Given the description of an element on the screen output the (x, y) to click on. 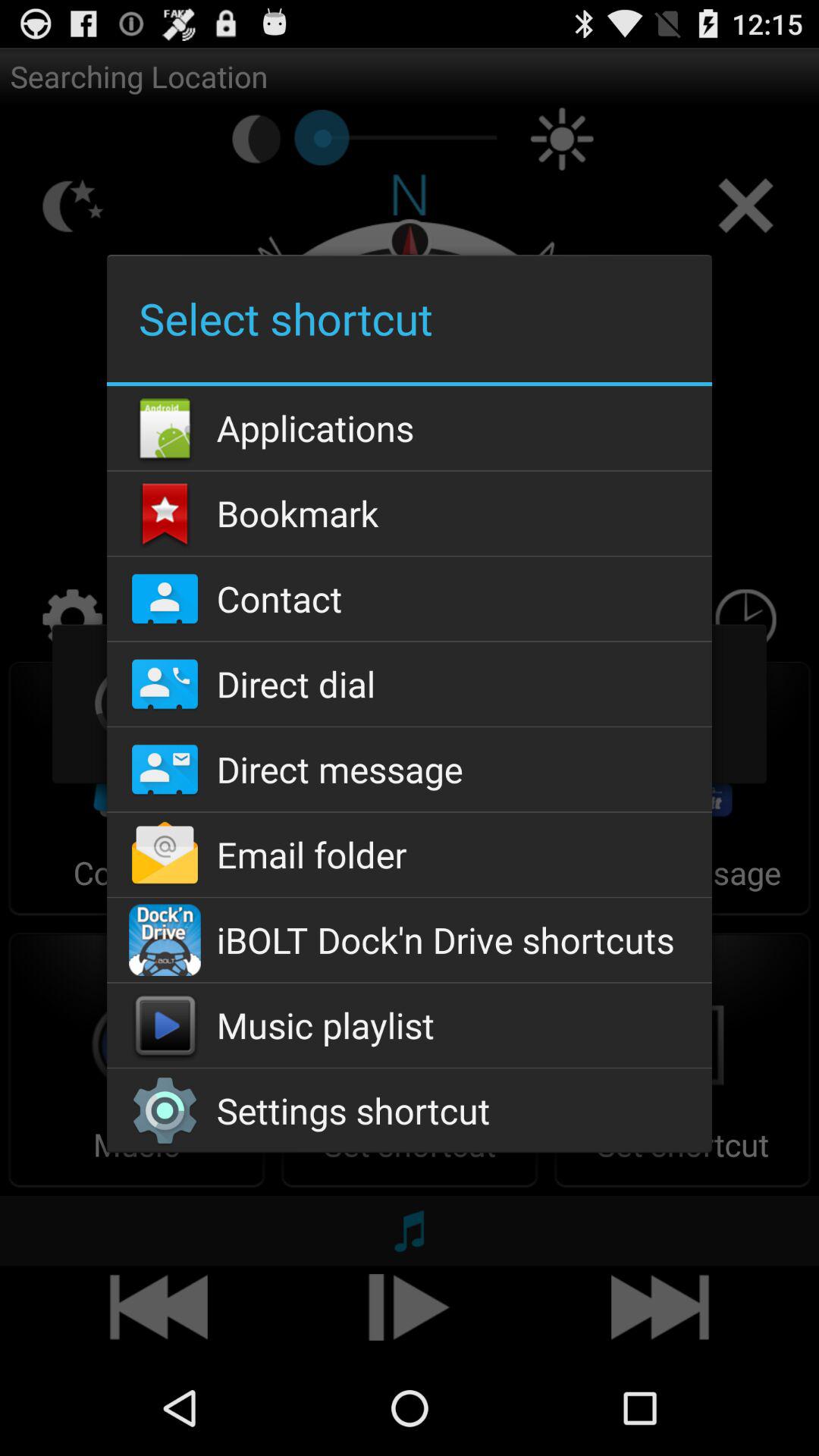
swipe to the contact item (409, 598)
